Given the description of an element on the screen output the (x, y) to click on. 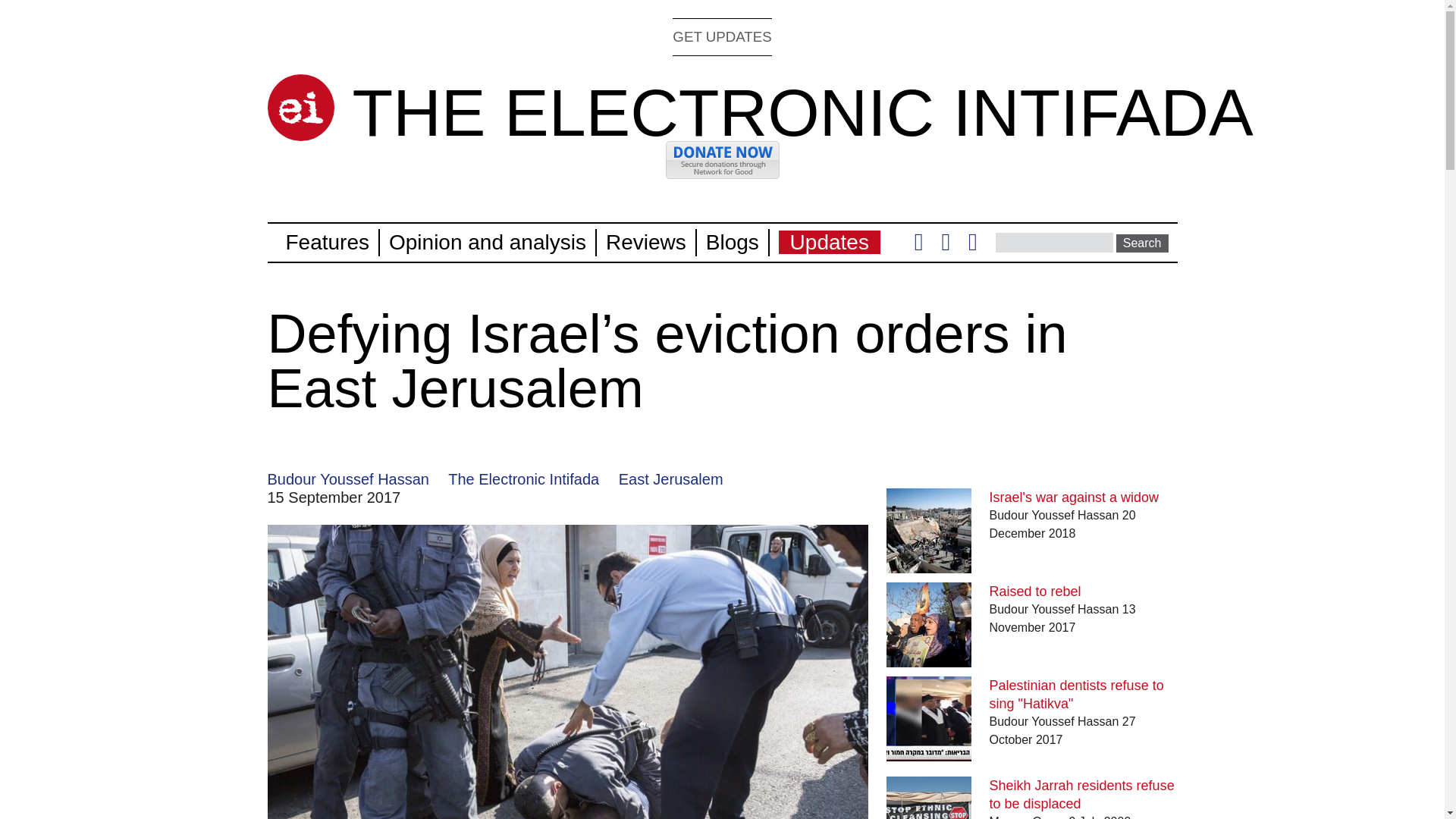
Enter the terms you wish to search for. (1054, 242)
Budour Youssef Hassan (347, 478)
YouTube (972, 245)
GET UPDATES (721, 37)
Twitter (918, 245)
Facebook (945, 245)
Search (1142, 243)
Home (299, 107)
THE ELECTRONIC INTIFADA (802, 112)
The Electronic Intifada (523, 478)
East Jerusalem (670, 478)
Home (802, 112)
